Given the description of an element on the screen output the (x, y) to click on. 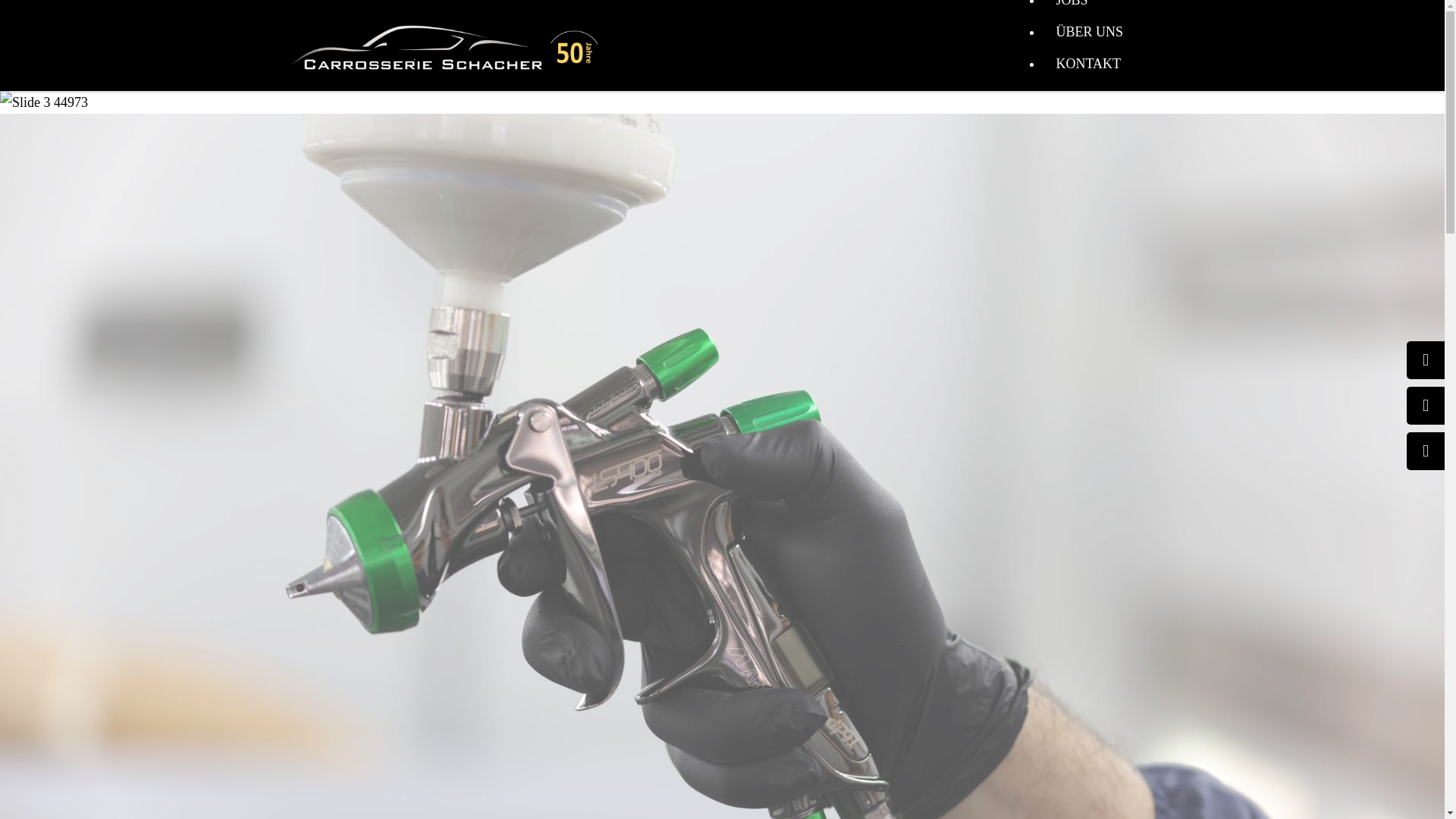
KONTAKT Element type: text (1088, 63)
